Given the description of an element on the screen output the (x, y) to click on. 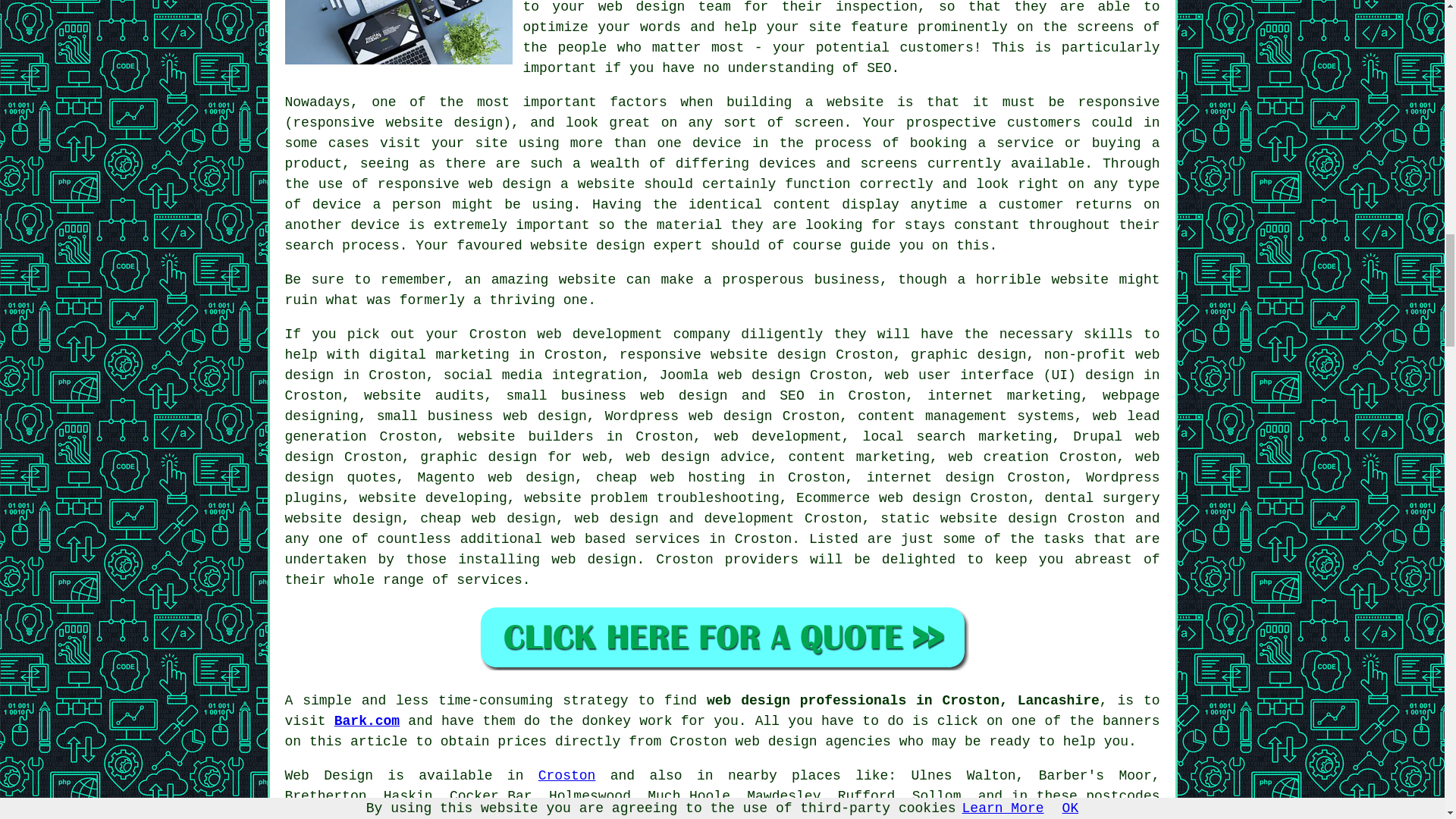
business (846, 279)
responsive website design (723, 354)
web hosting (696, 477)
website (587, 279)
website (1079, 279)
content (802, 204)
device is (387, 224)
Web Designers in Croston, Lancashire - Web Development (398, 32)
